Given the description of an element on the screen output the (x, y) to click on. 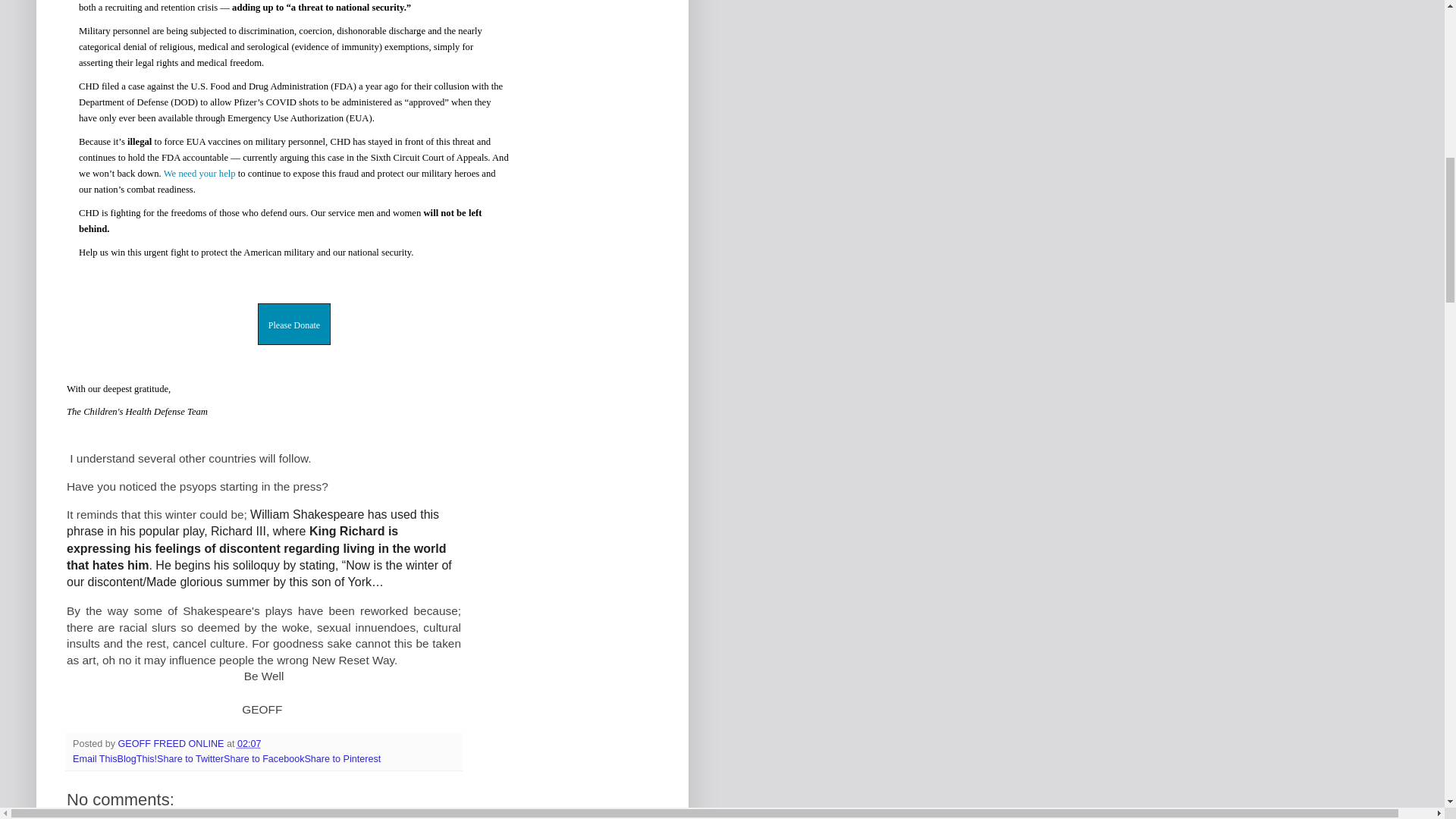
Email This (94, 758)
BlogThis! (137, 758)
BlogThis! (137, 758)
Email This (94, 758)
Share to Twitter (190, 758)
02:07 (249, 743)
Share to Facebook (264, 758)
Please Donate (294, 325)
Share to Twitter (190, 758)
Share to Facebook (264, 758)
GEOFF FREED ONLINE (172, 743)
author profile (172, 743)
Share to Pinterest (342, 758)
We need your help (199, 173)
permanent link (249, 743)
